Given the description of an element on the screen output the (x, y) to click on. 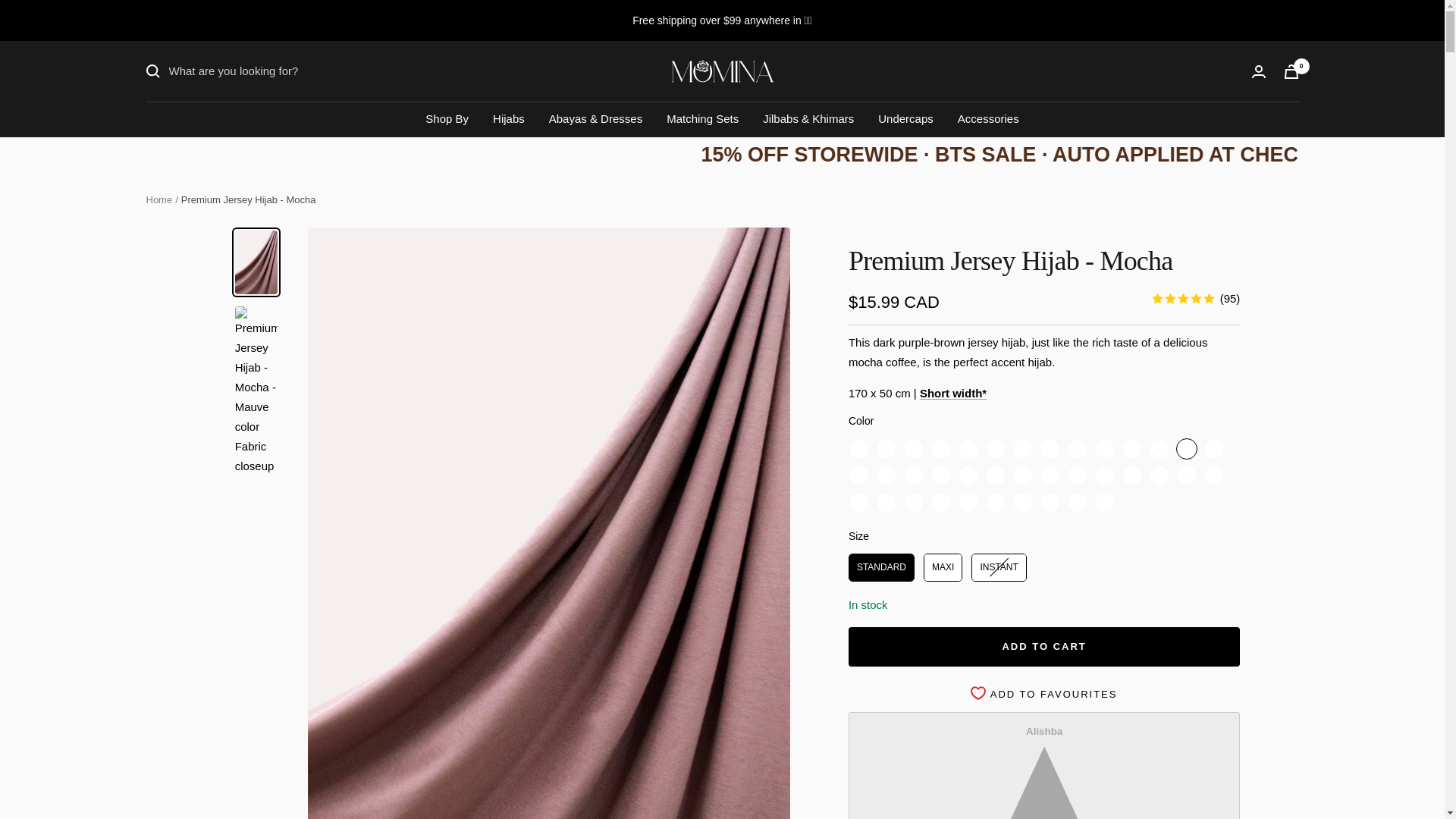
Shop By (446, 118)
Home (158, 199)
ADD TO FAVOURITES (1044, 694)
Undercaps (905, 118)
ADD TO CART (1044, 646)
Accessories (988, 118)
Hijabs (508, 118)
Matching Sets (702, 118)
0 (1290, 70)
